Given the description of an element on the screen output the (x, y) to click on. 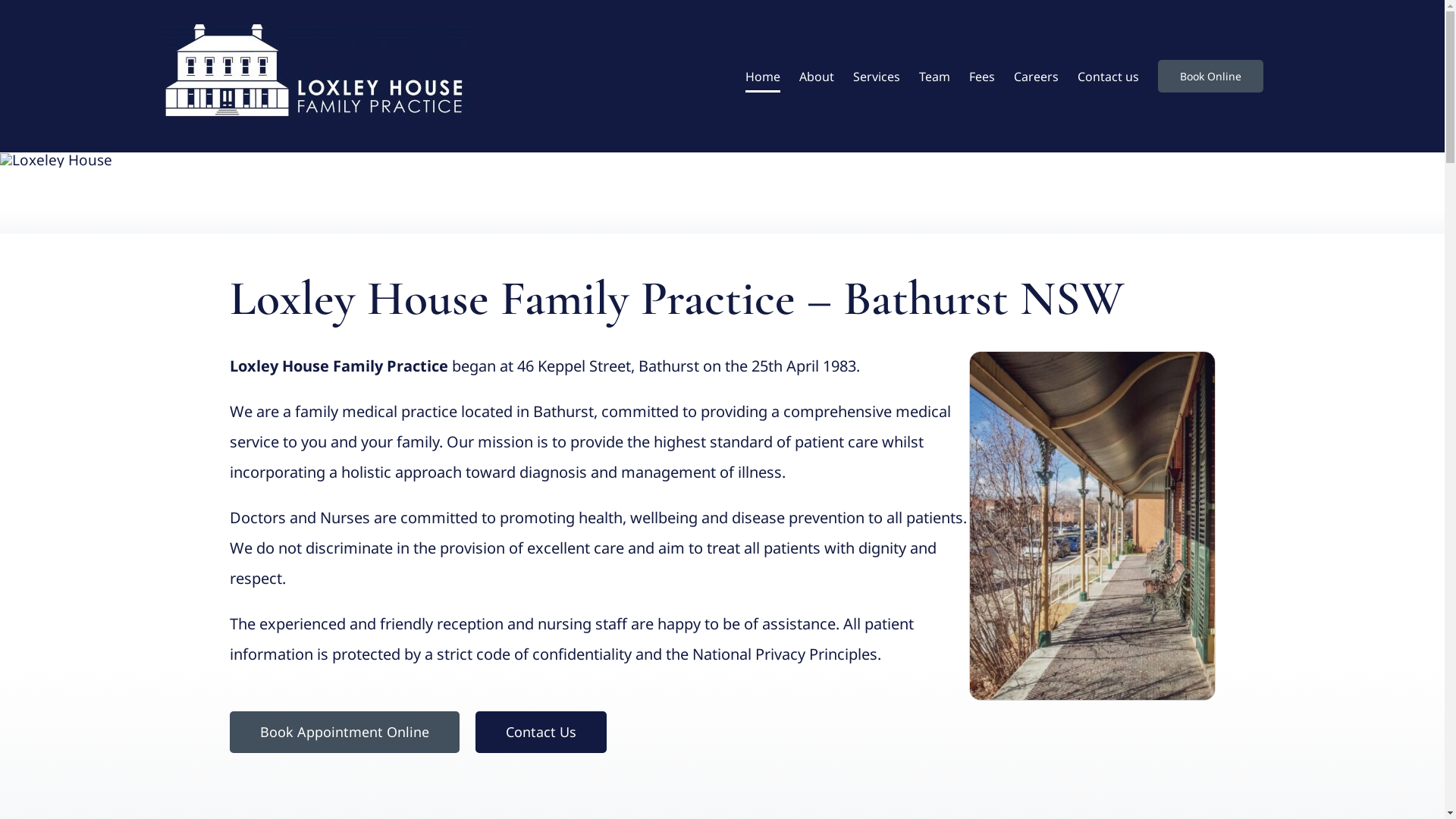
Contact us Element type: text (1107, 76)
Home Element type: text (761, 76)
Services Element type: text (875, 76)
Book Online Element type: text (1209, 76)
Fees Element type: text (981, 76)
Careers Element type: text (1035, 76)
Loxley-House Element type: hover (56, 160)
Team Element type: text (934, 76)
Contact Us Element type: text (540, 732)
Book Appointment Online Element type: text (343, 732)
Loxley House Family Practice Element type: hover (1091, 525)
About Element type: text (816, 76)
